Given the description of an element on the screen output the (x, y) to click on. 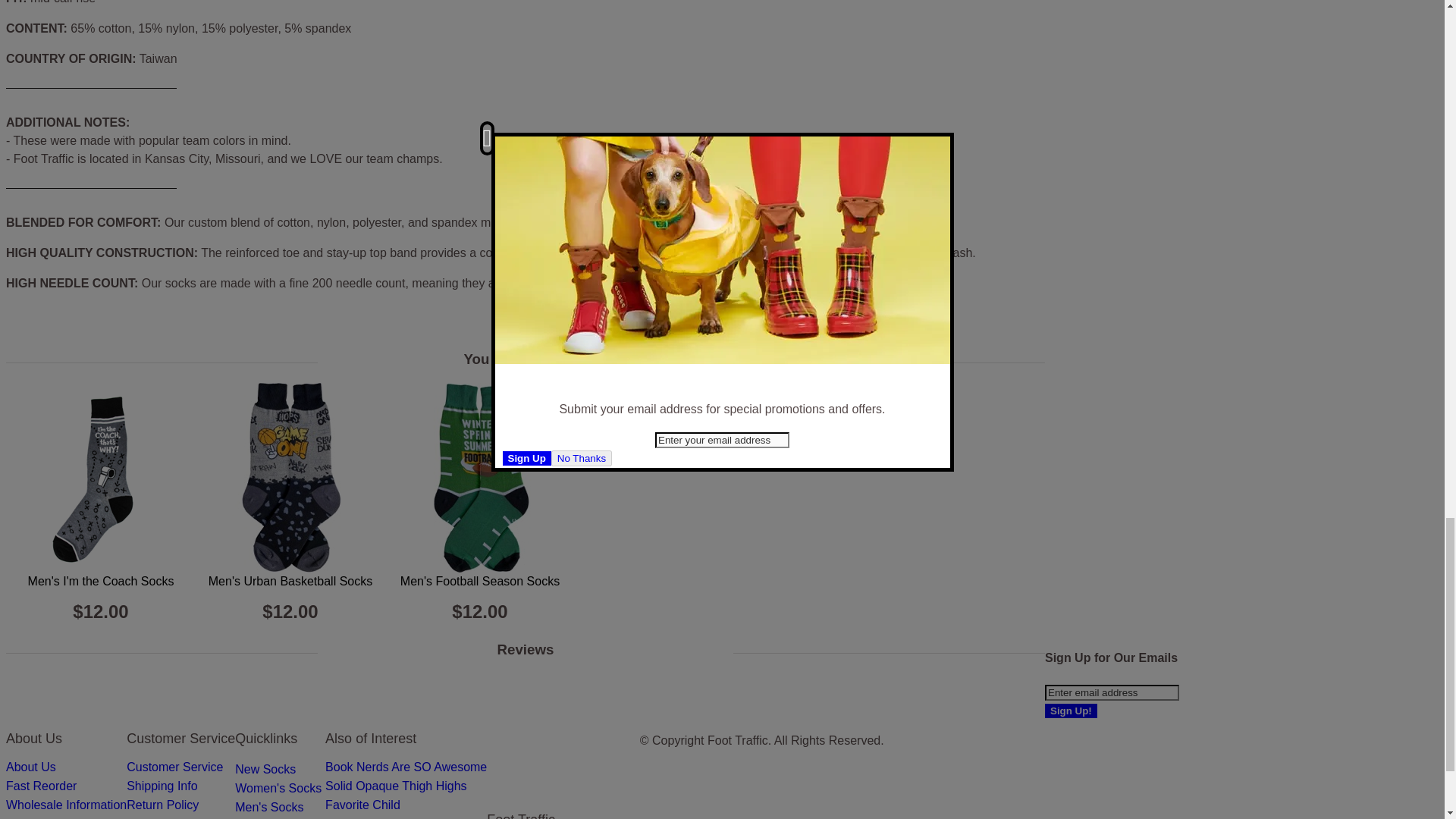
Sign Up! (1071, 710)
